Given the description of an element on the screen output the (x, y) to click on. 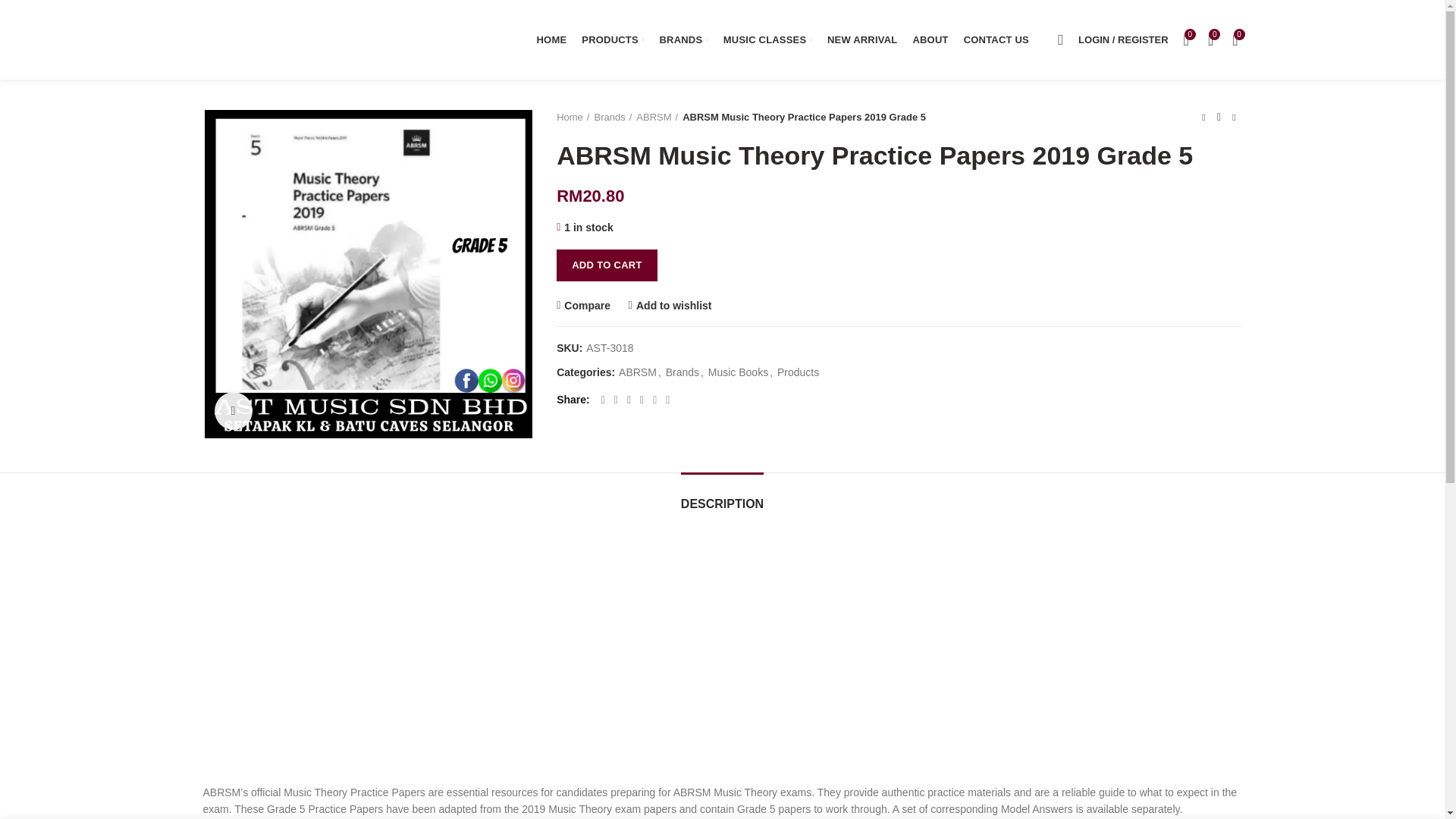
PRODUCTS (611, 39)
GRADE 5 new (368, 273)
My account (1122, 39)
HOME (552, 39)
